Given the description of an element on the screen output the (x, y) to click on. 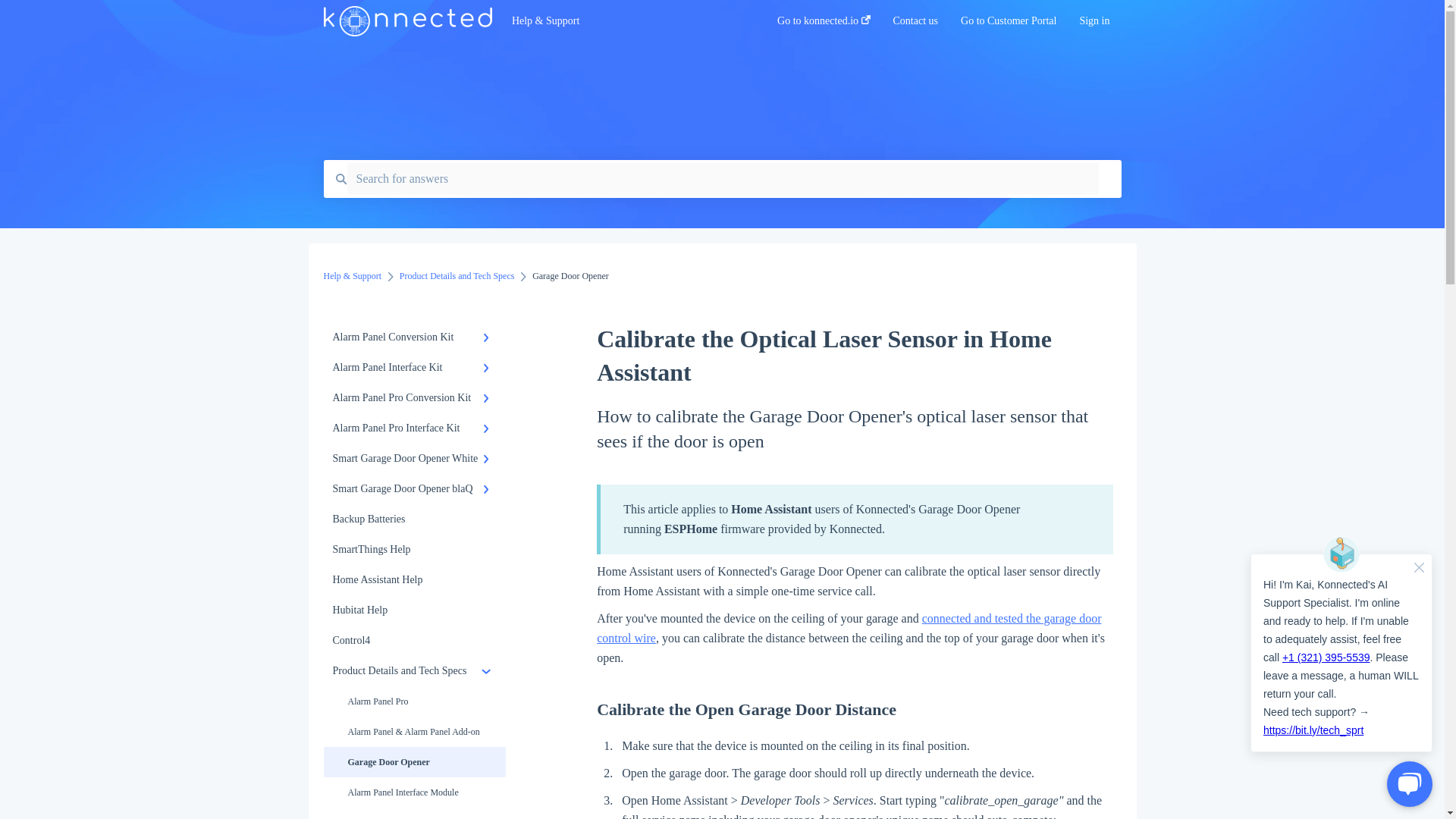
Go to Customer Portal (1008, 25)
Go to konnected.io (823, 25)
Contact us (916, 25)
